Given the description of an element on the screen output the (x, y) to click on. 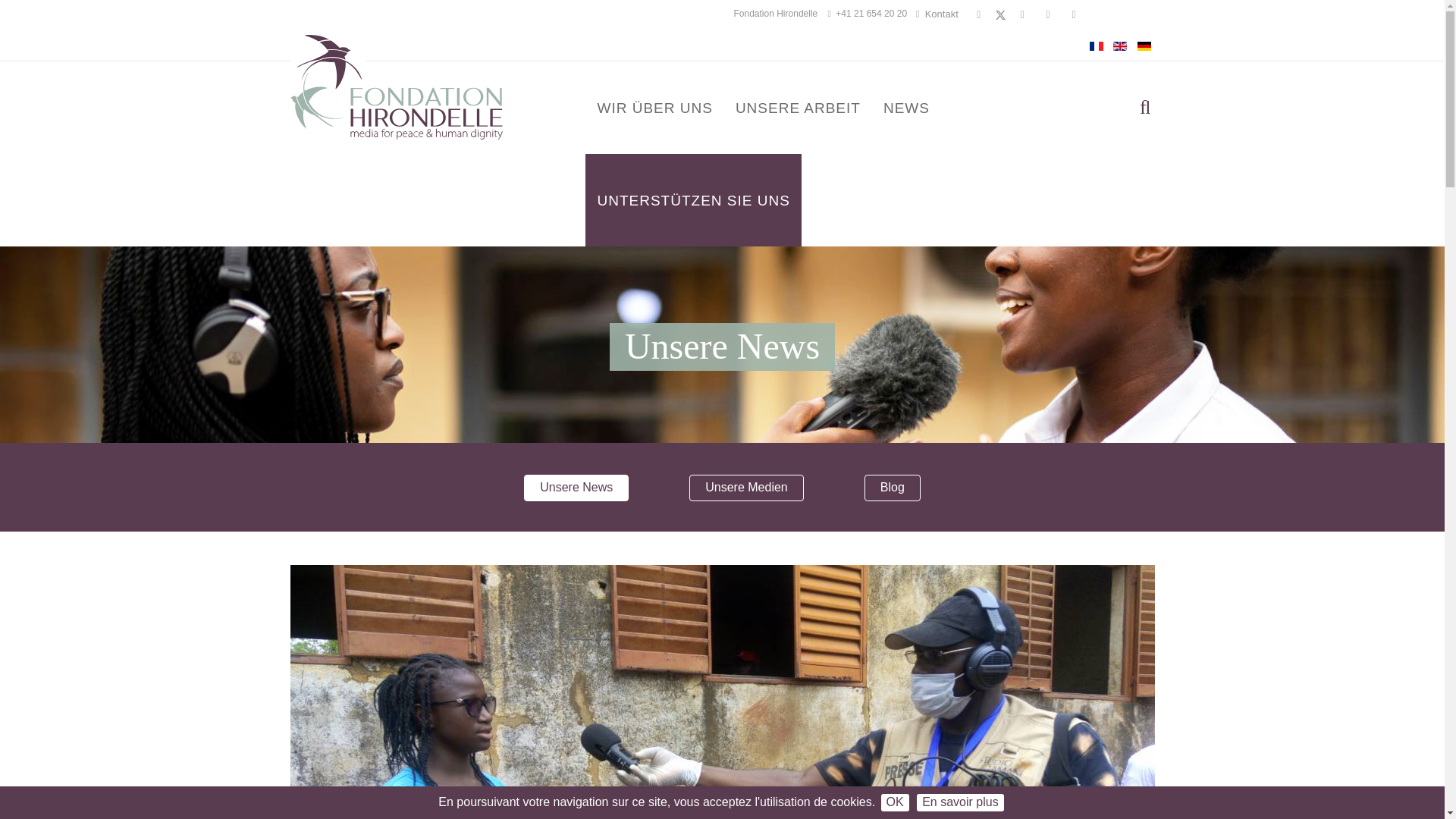
Fondation Hirondelle - Media for Peace and Human Dignity (395, 87)
UNSERE ARBEIT (797, 107)
Deutsch (1144, 45)
OK (894, 802)
En savoir plus (960, 802)
English (1119, 45)
  Kontakt (936, 13)
